Given the description of an element on the screen output the (x, y) to click on. 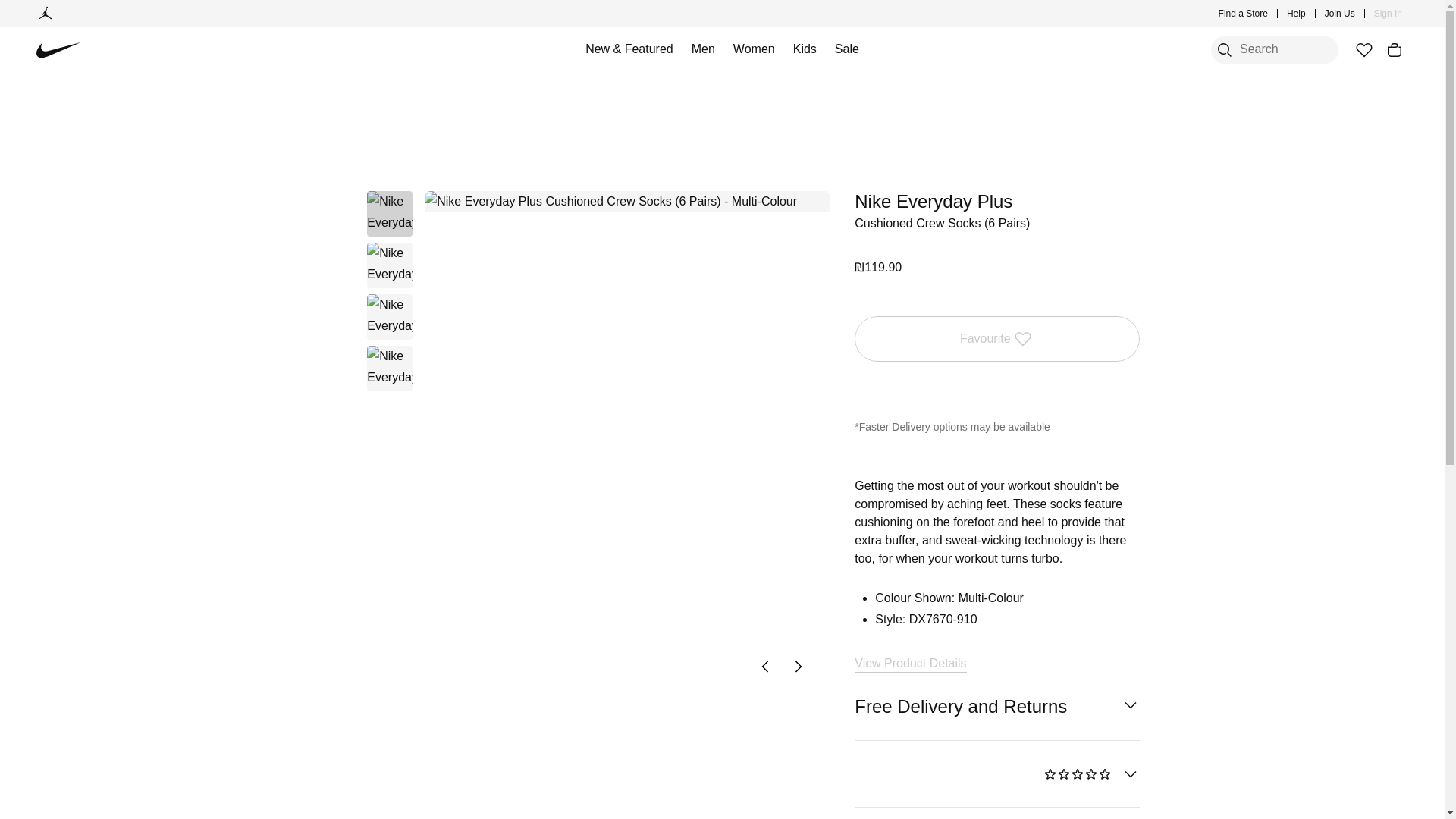
Join Us (1339, 13)
Find a Store (1243, 13)
Favourites (1364, 49)
Help (1296, 13)
Bag Items: 0 (1393, 49)
No Stars (1077, 774)
Sign In (1388, 13)
